Given the description of an element on the screen output the (x, y) to click on. 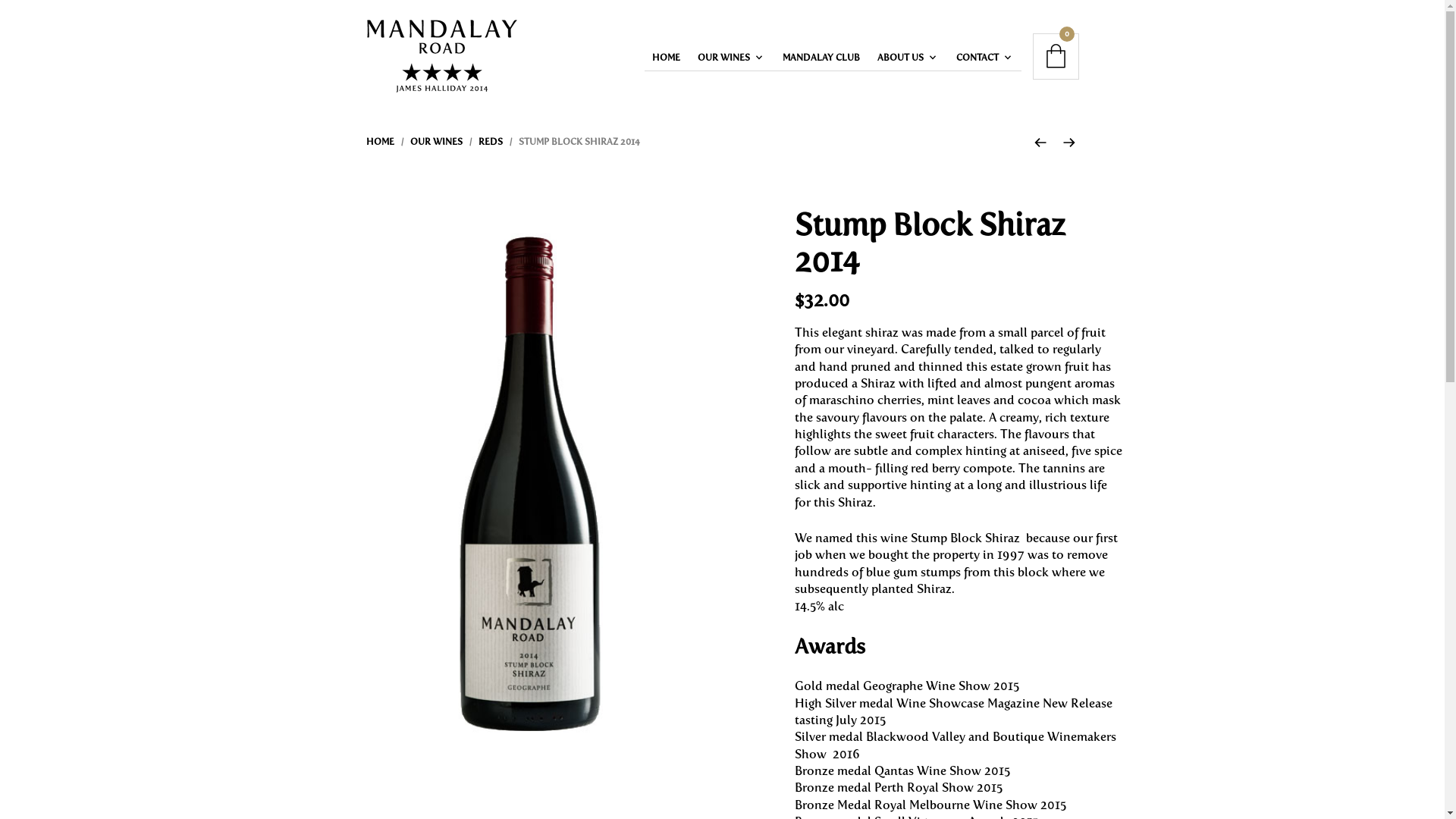
OUR WINES Element type: text (435, 141)
OUR WINES Element type: text (727, 57)
0 Element type: text (1055, 56)
REDS Element type: text (489, 141)
HOME Element type: text (379, 141)
CONTACT Element type: text (980, 57)
MANDALAY CLUB Element type: text (821, 57)
ABOUT US Element type: text (903, 57)
HOME Element type: text (665, 57)
